Given the description of an element on the screen output the (x, y) to click on. 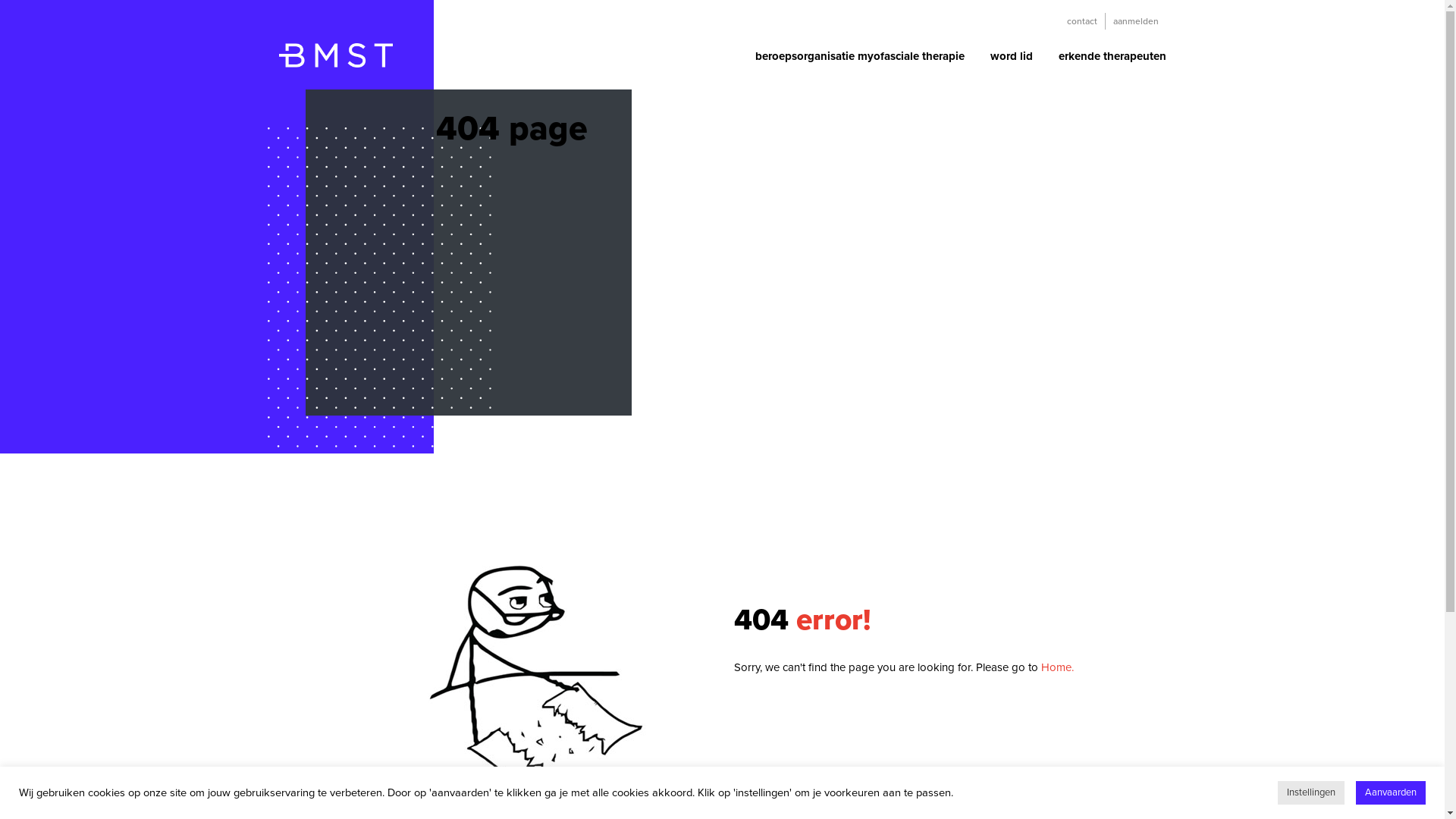
BMST - Beroepsvereniging Myofasciale Therapie Element type: hover (335, 62)
Instellingen Element type: text (1310, 792)
Home. Element type: text (1056, 667)
aanmelden Element type: text (1134, 20)
Aanvaarden Element type: text (1390, 792)
word lid Element type: text (1010, 62)
beroepsorganisatie myofasciale therapie Element type: text (859, 62)
erkende therapeuten Element type: text (1105, 62)
contact Element type: text (1081, 20)
